Given the description of an element on the screen output the (x, y) to click on. 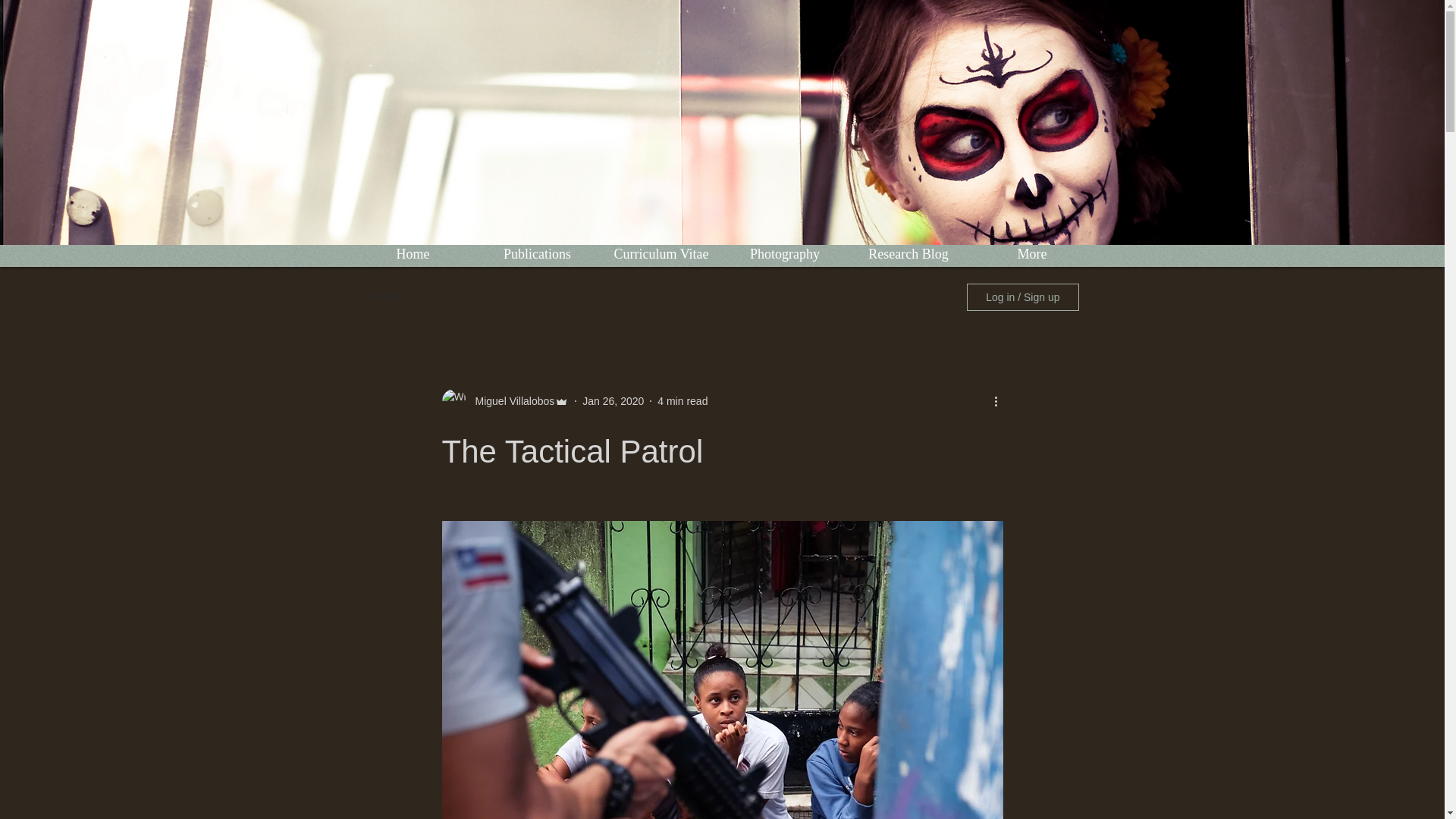
Research Blog (907, 253)
Photography (785, 253)
Miguel Villalobos (509, 400)
Publications (536, 253)
All Posts (385, 296)
Curriculum Vitae (660, 253)
Jan 26, 2020 (612, 399)
Home (412, 253)
4 min read (682, 399)
